Given the description of an element on the screen output the (x, y) to click on. 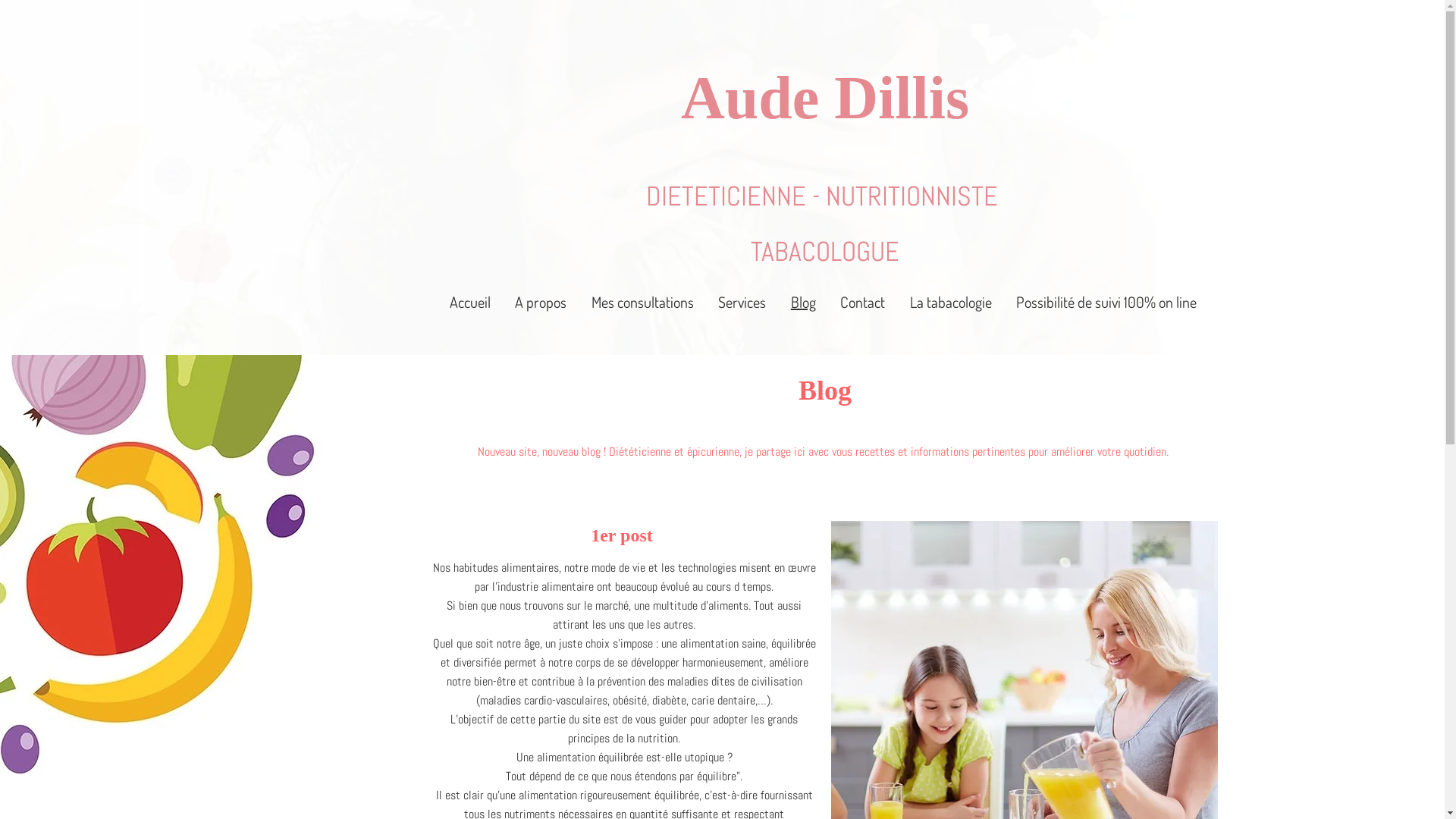
Contact Element type: text (862, 301)
Services Element type: text (742, 301)
Accueil Element type: text (469, 301)
Mes consultations Element type: text (642, 301)
La tabacologie Element type: text (950, 301)
Blog Element type: text (803, 301)
A propos Element type: text (540, 301)
